Given the description of an element on the screen output the (x, y) to click on. 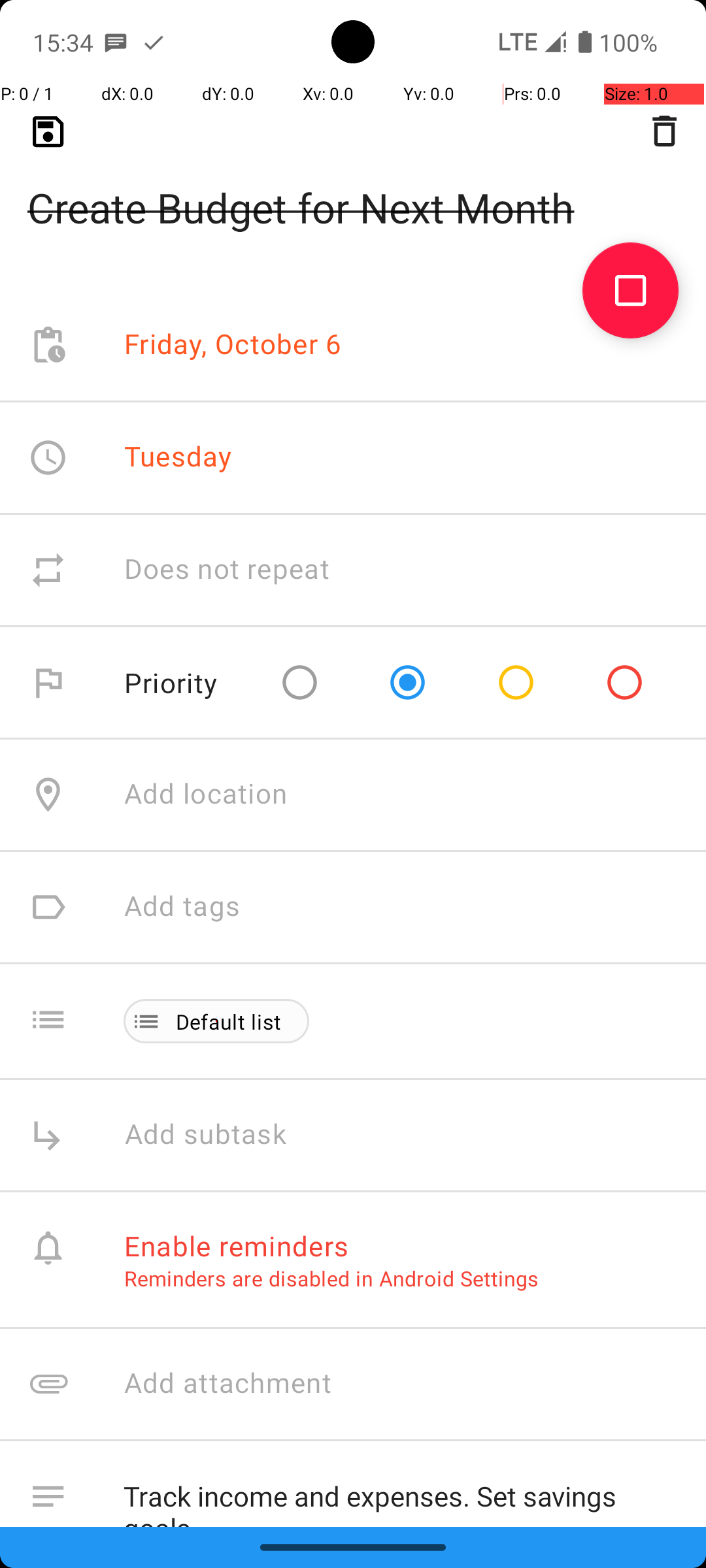
Friday, October 6 Element type: android.widget.TextView (232, 344)
